Given the description of an element on the screen output the (x, y) to click on. 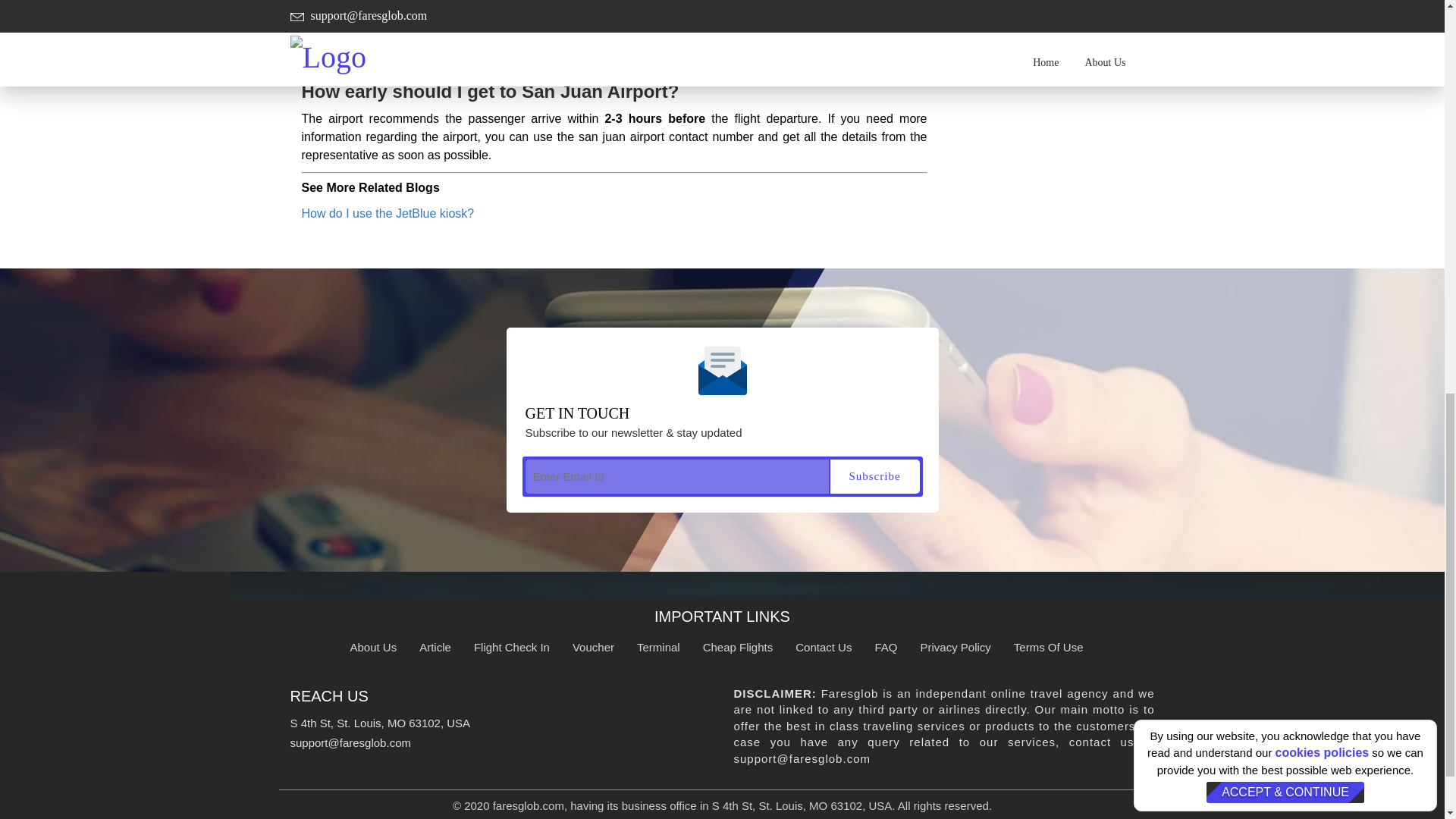
Terms Of Use (1048, 646)
Cheap Flights (738, 646)
Subscribe (873, 476)
About Us (373, 646)
Article (435, 646)
FAQ (885, 646)
Contact Us (822, 646)
Privacy Policy (955, 646)
Flight Check In (512, 646)
How do I use the JetBlue kiosk? (387, 213)
Terminal (658, 646)
Voucher (593, 646)
